Given the description of an element on the screen output the (x, y) to click on. 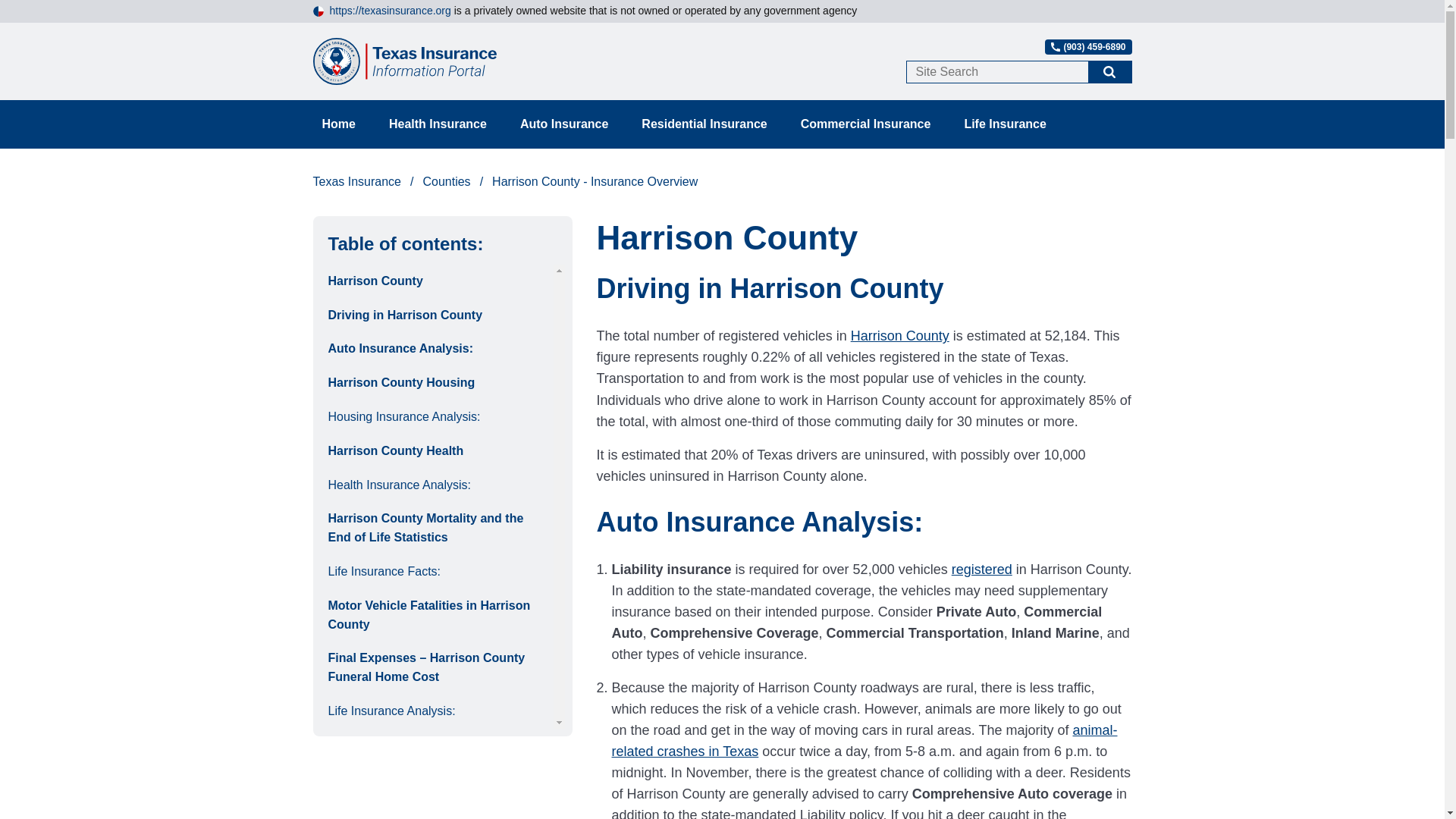
Texas Insurance (367, 181)
Home (337, 124)
Life Insurance Analysis: (436, 711)
Harrison County (436, 281)
Residential Insurance (703, 124)
Counties (457, 181)
Auto Insurance Analysis: (436, 349)
Driving in Harrison County (436, 315)
Commercial Insurance (865, 124)
Health Insurance Analysis: (436, 485)
